Given the description of an element on the screen output the (x, y) to click on. 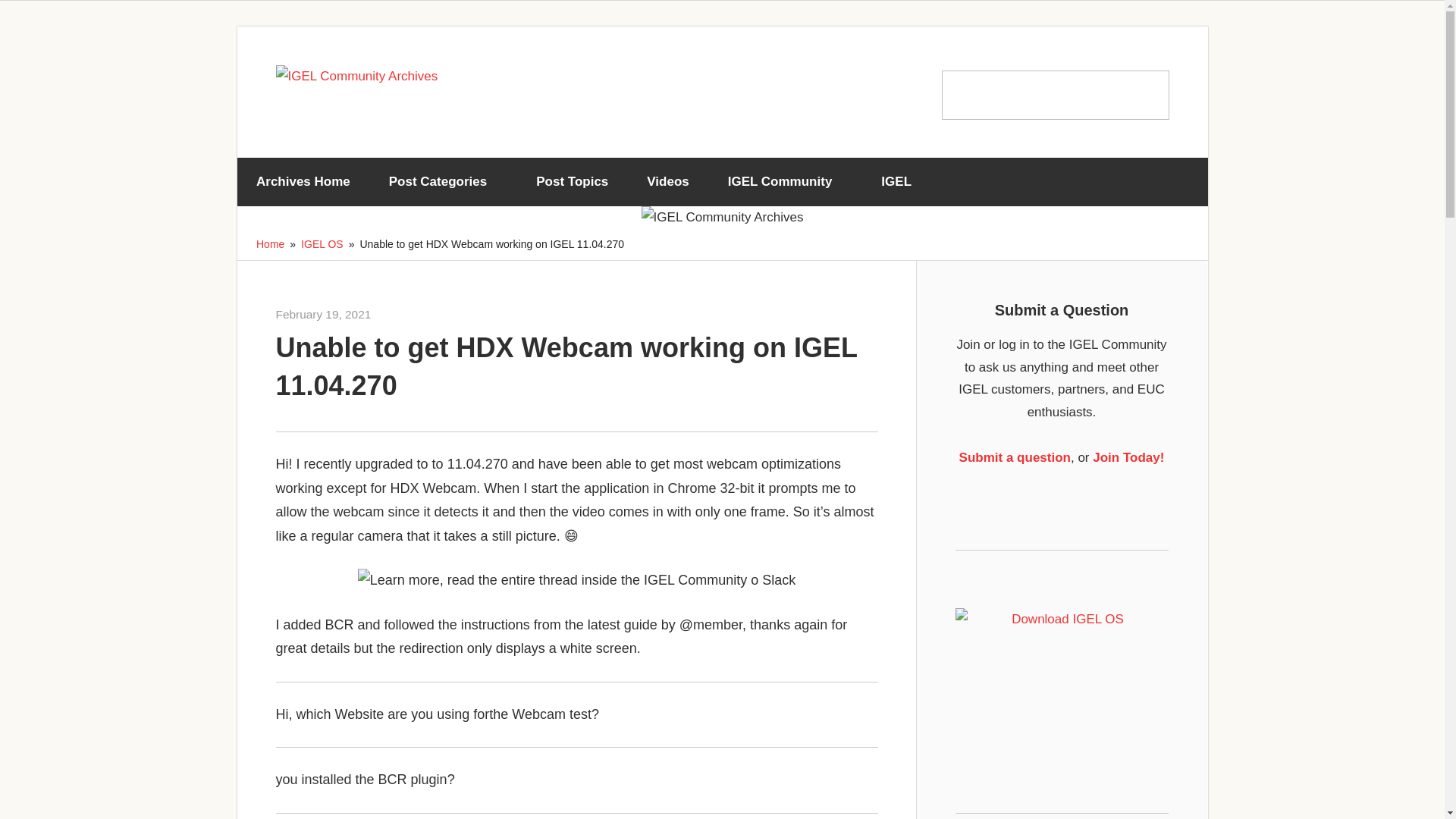
IGEL OS (322, 244)
Post Categories (442, 182)
February 19, 2021 (323, 314)
Home (269, 244)
IGEL (901, 182)
4:55 pm (323, 314)
Post Topics (571, 182)
Archives Home (302, 182)
View all posts by IGEL Community Archives (433, 313)
IGEL Community (784, 182)
Videos (667, 182)
IGEL Community Archives (433, 313)
Download IGEL OS (1062, 670)
